Given the description of an element on the screen output the (x, y) to click on. 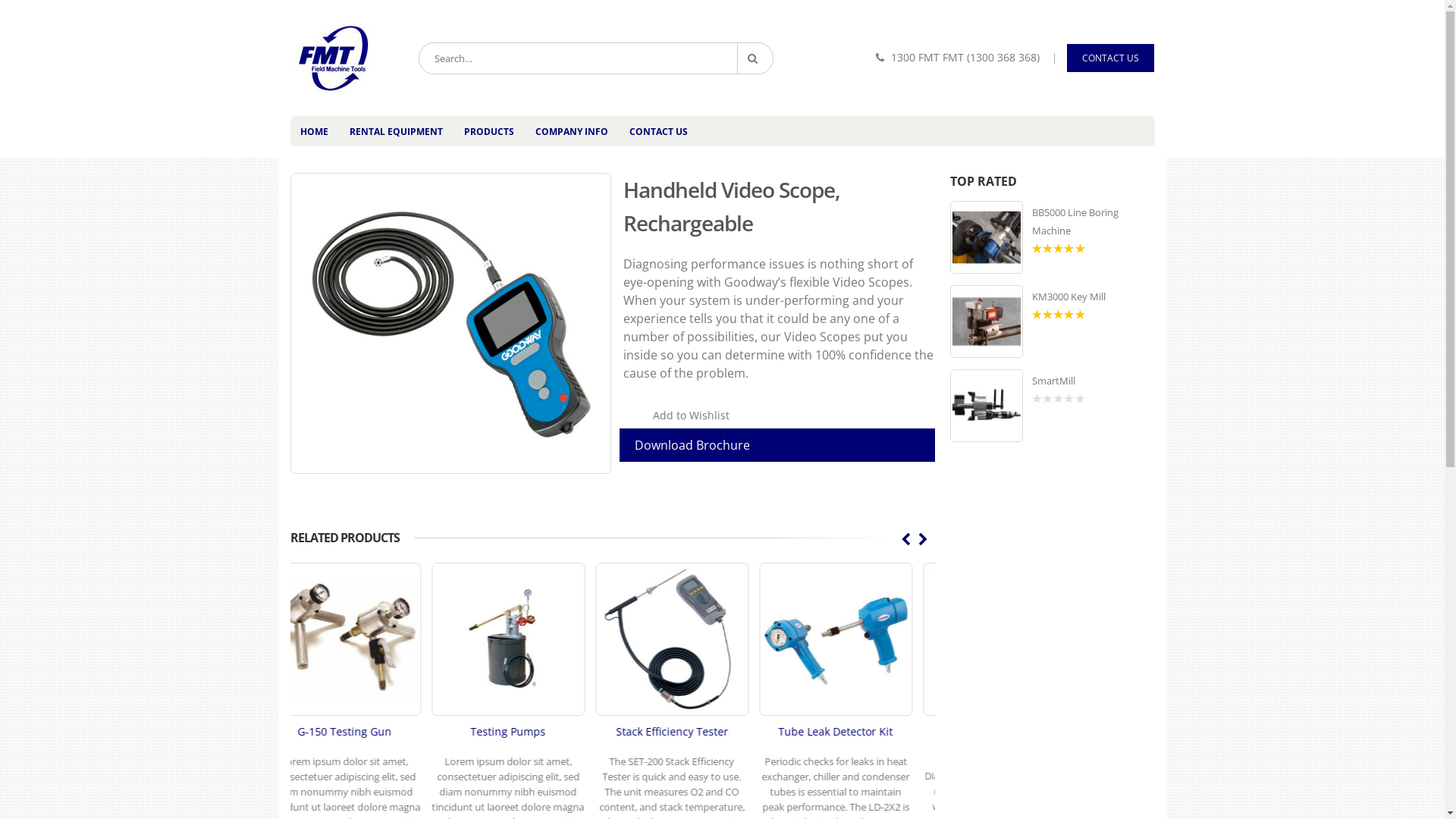
CONTACT US Element type: text (1110, 57)
KM3000 Key Mill Element type: hover (985, 321)
PRODUCTS Element type: text (488, 131)
Download Brochure Element type: text (779, 444)
BB5000 Line Boring Machine Element type: text (1092, 221)
CONTACT US Element type: text (657, 131)
BB5000 Line Boring Machine Element type: hover (985, 236)
Tube Inspection & Test Equipment Element type: text (761, 447)
Search Element type: hover (754, 57)
FMT - Field Machine Tools Element type: hover (334, 57)
KM3000 Key Mill Element type: text (1092, 296)
COMPANY INFO Element type: text (570, 131)
RENTAL EQUIPMENT Element type: text (395, 131)
SmartMill Element type: text (1092, 380)
SmartMill Element type: hover (985, 405)
HOME Element type: text (313, 131)
Add to Wishlist Element type: text (676, 415)
